Given the description of an element on the screen output the (x, y) to click on. 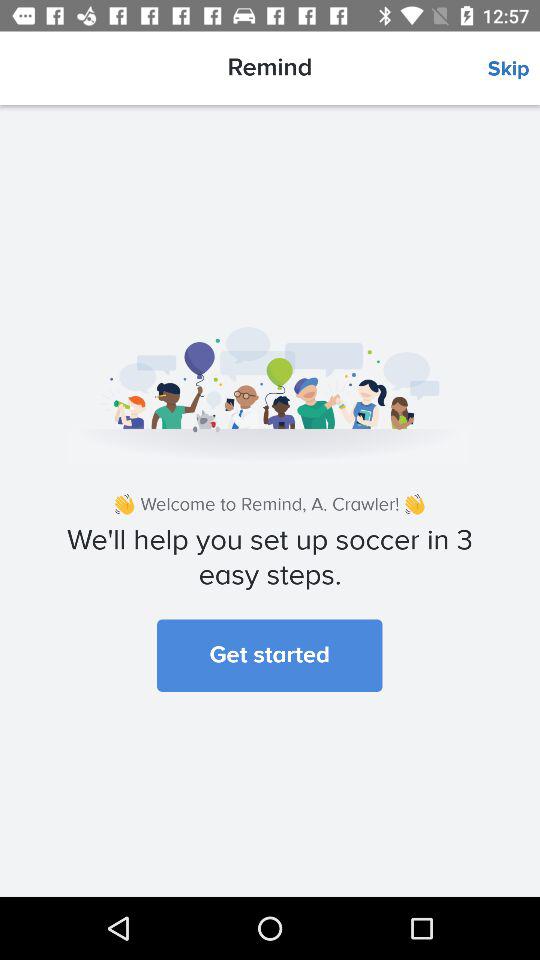
choose the icon next to the remind icon (513, 69)
